Given the description of an element on the screen output the (x, y) to click on. 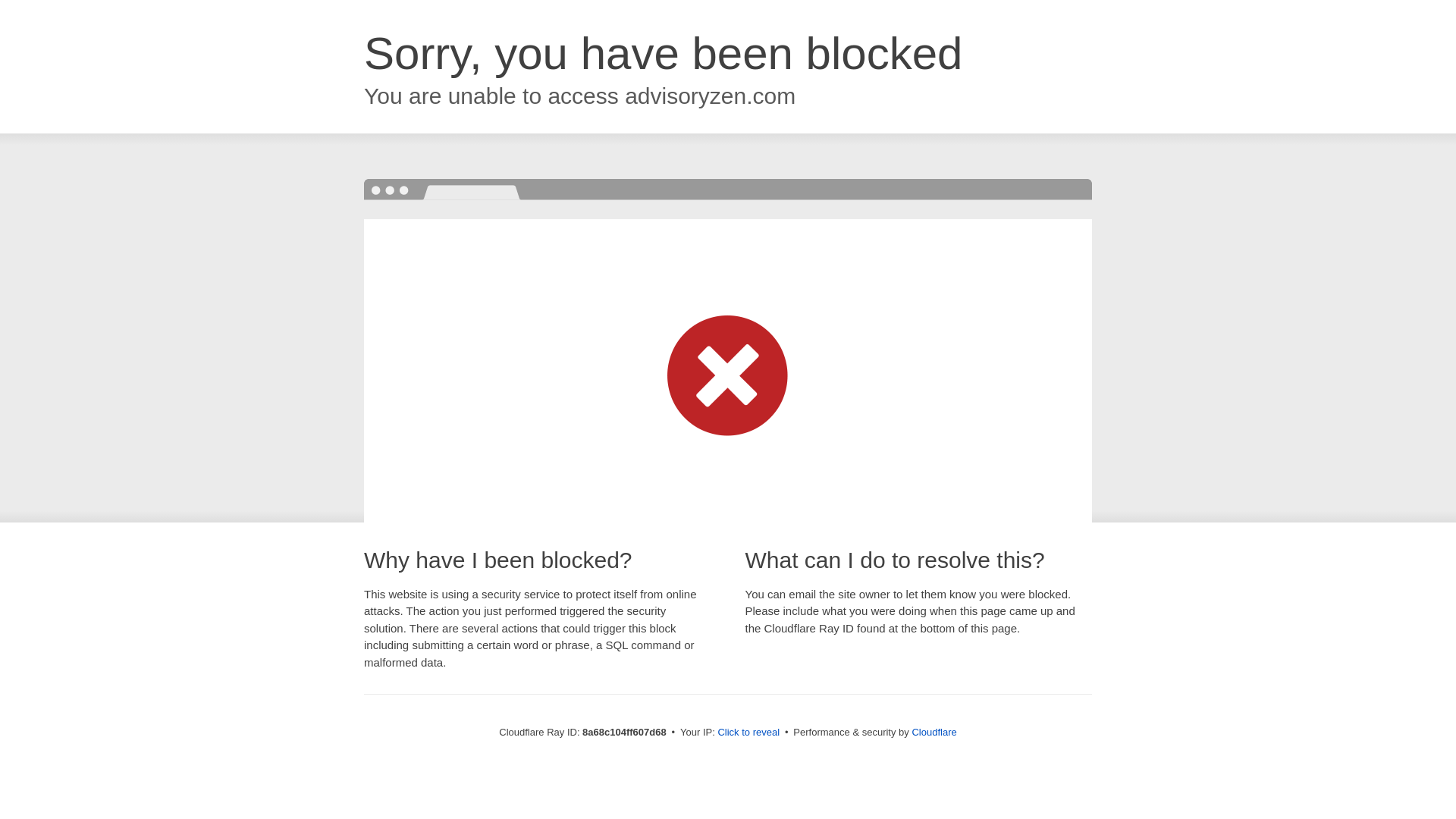
Click to reveal (747, 732)
Cloudflare (933, 731)
